Given the description of an element on the screen output the (x, y) to click on. 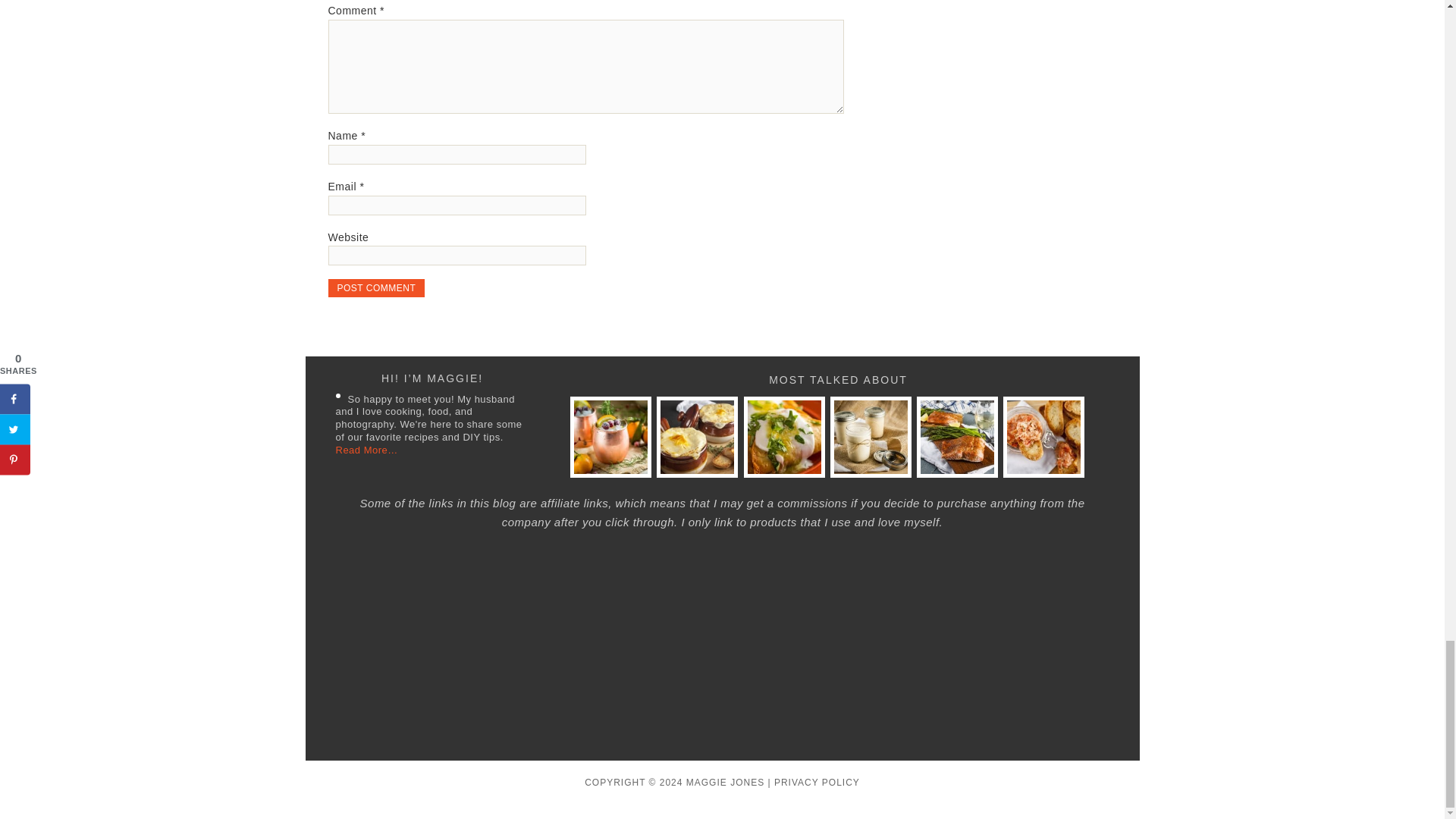
Post Comment (376, 288)
Post Comment (376, 288)
